Given the description of an element on the screen output the (x, y) to click on. 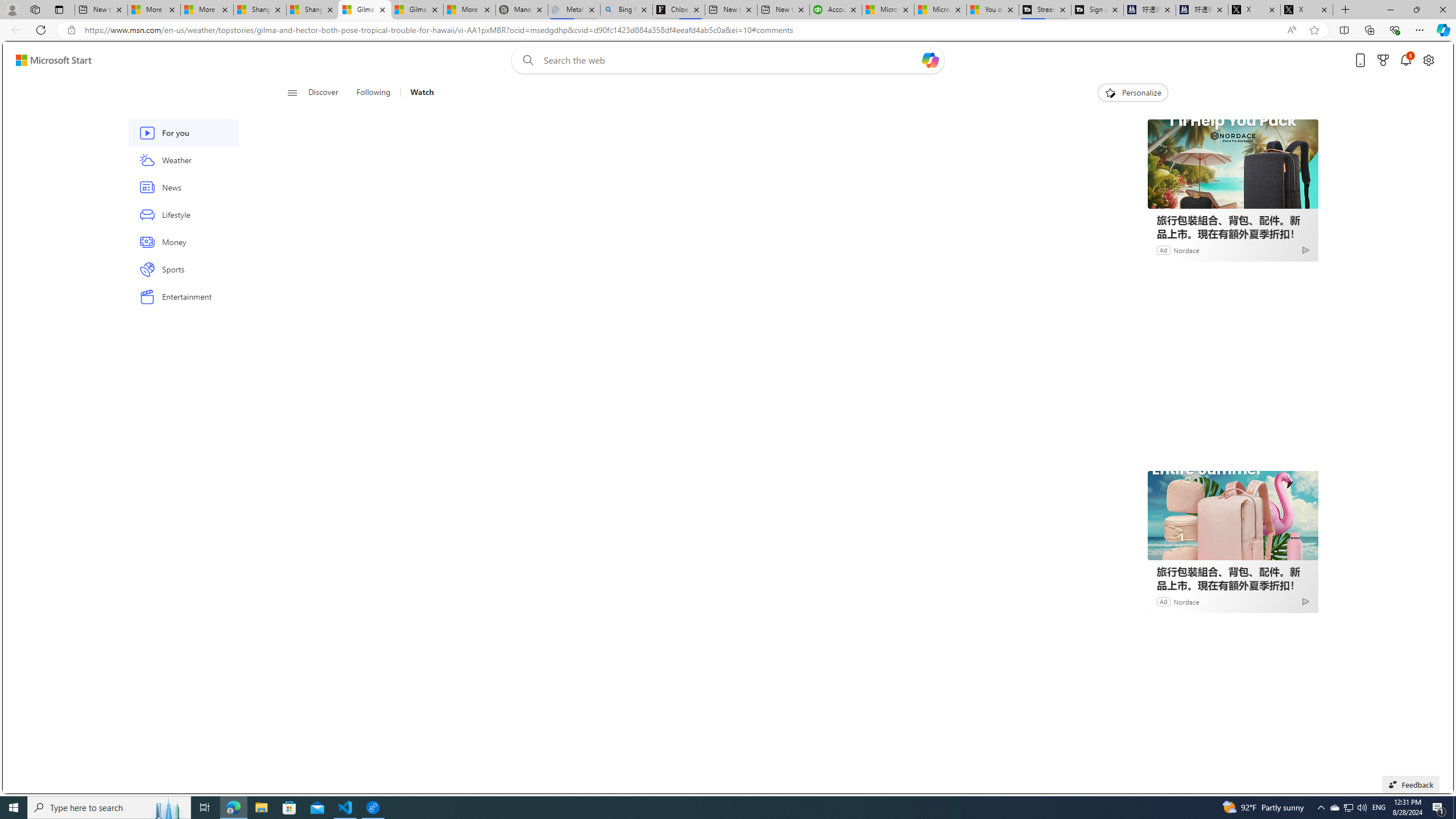
Watch (421, 92)
Manatee Mortality Statistics | FWC (521, 9)
Accounting Software for Accountants, CPAs and Bookkeepers (835, 9)
Following (373, 92)
X (1306, 9)
Open Copilot (930, 59)
Skip to content (49, 59)
Watch (416, 92)
Microsoft rewards (1382, 60)
